Given the description of an element on the screen output the (x, y) to click on. 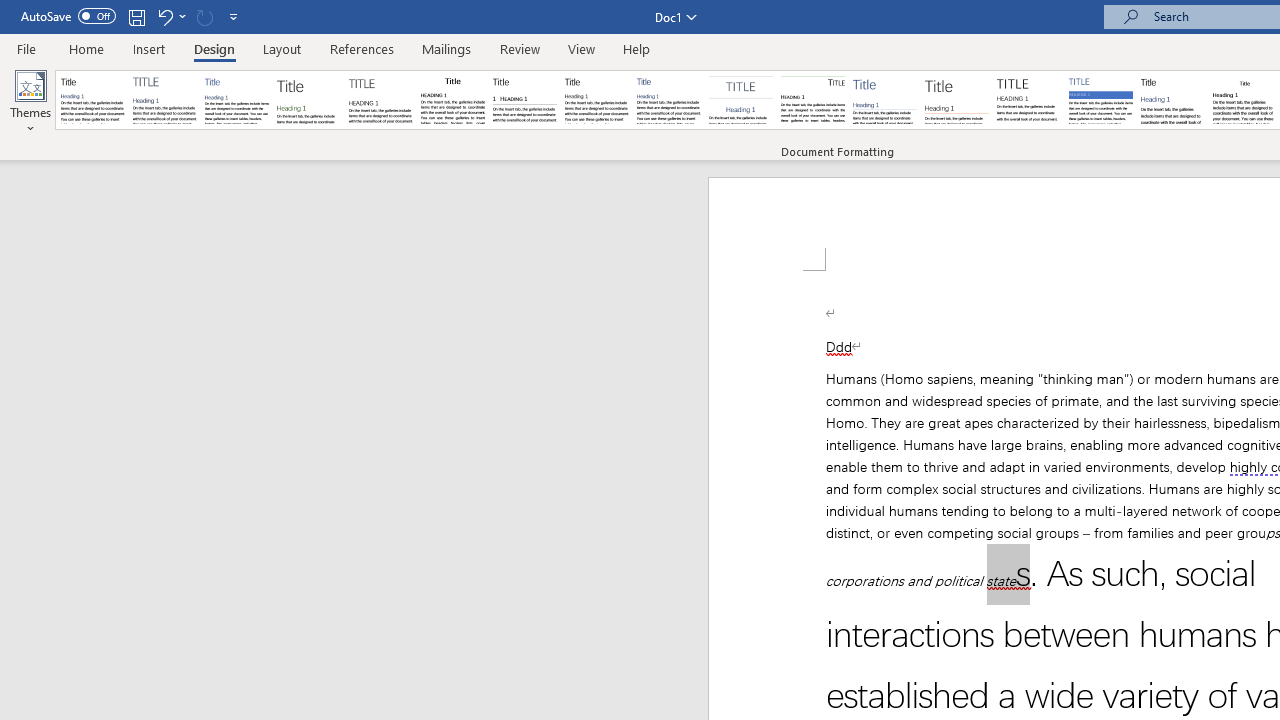
Word (1172, 100)
Black & White (Word 2013) (596, 100)
Basic (Simple) (236, 100)
Minimalist (1028, 100)
Lines (Distinctive) (812, 100)
Undo Apply Quick Style Set (170, 15)
Basic (Elegant) (164, 100)
Basic (Stylish) (308, 100)
